Given the description of an element on the screen output the (x, y) to click on. 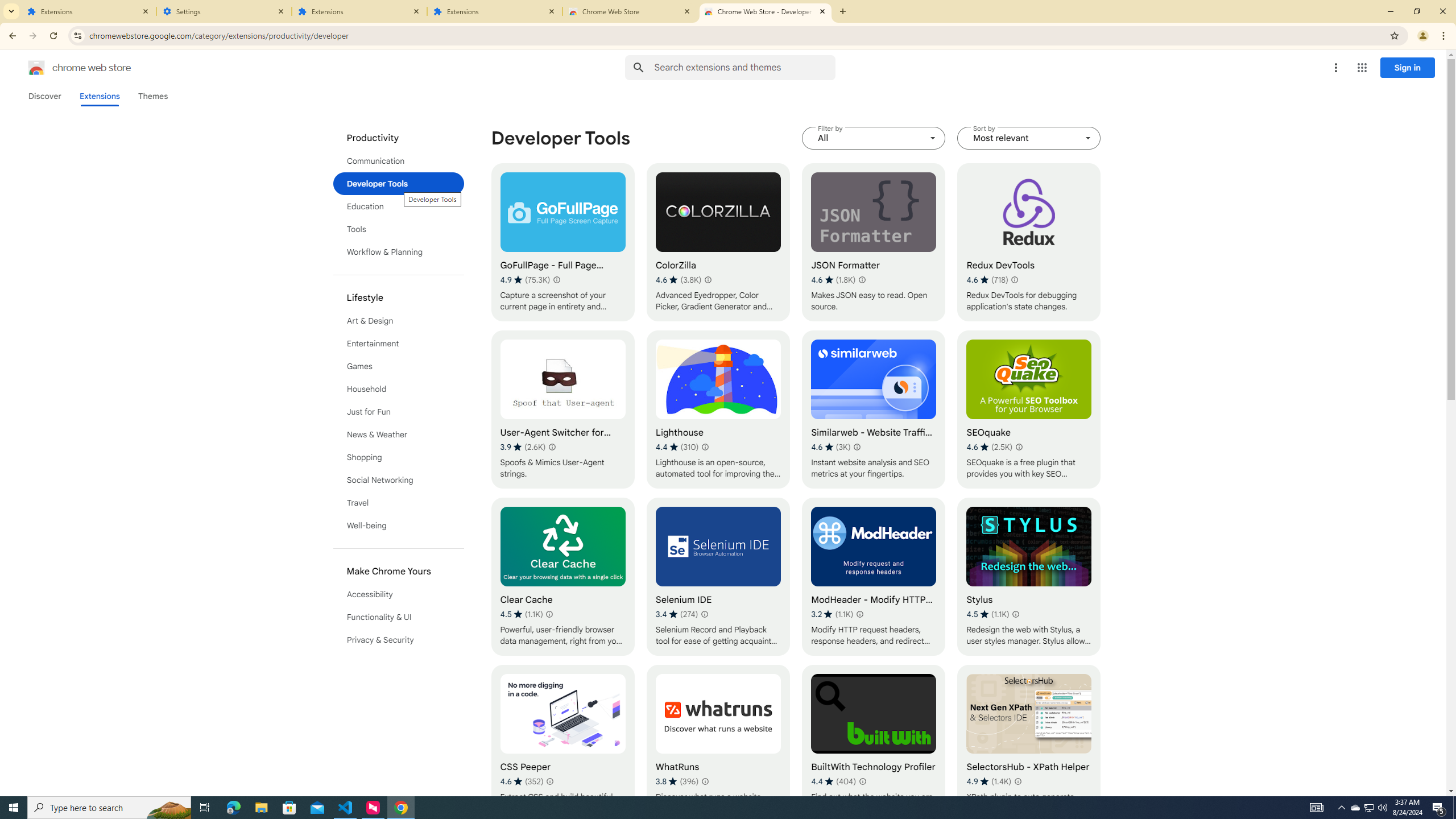
Average rating 4.6 out of 5 stars. 3K ratings. (830, 446)
Privacy & Security (398, 639)
Average rating 4.4 out of 5 stars. 404 ratings. (833, 781)
Filter by All (874, 137)
Chrome Web Store (630, 11)
Average rating 3.9 out of 5 stars. 2.6K ratings. (522, 446)
Settings (224, 11)
Similarweb - Website Traffic & SEO Checker (874, 409)
Average rating 4.6 out of 5 stars. 3.8K ratings. (678, 279)
Travel (398, 502)
